Given the description of an element on the screen output the (x, y) to click on. 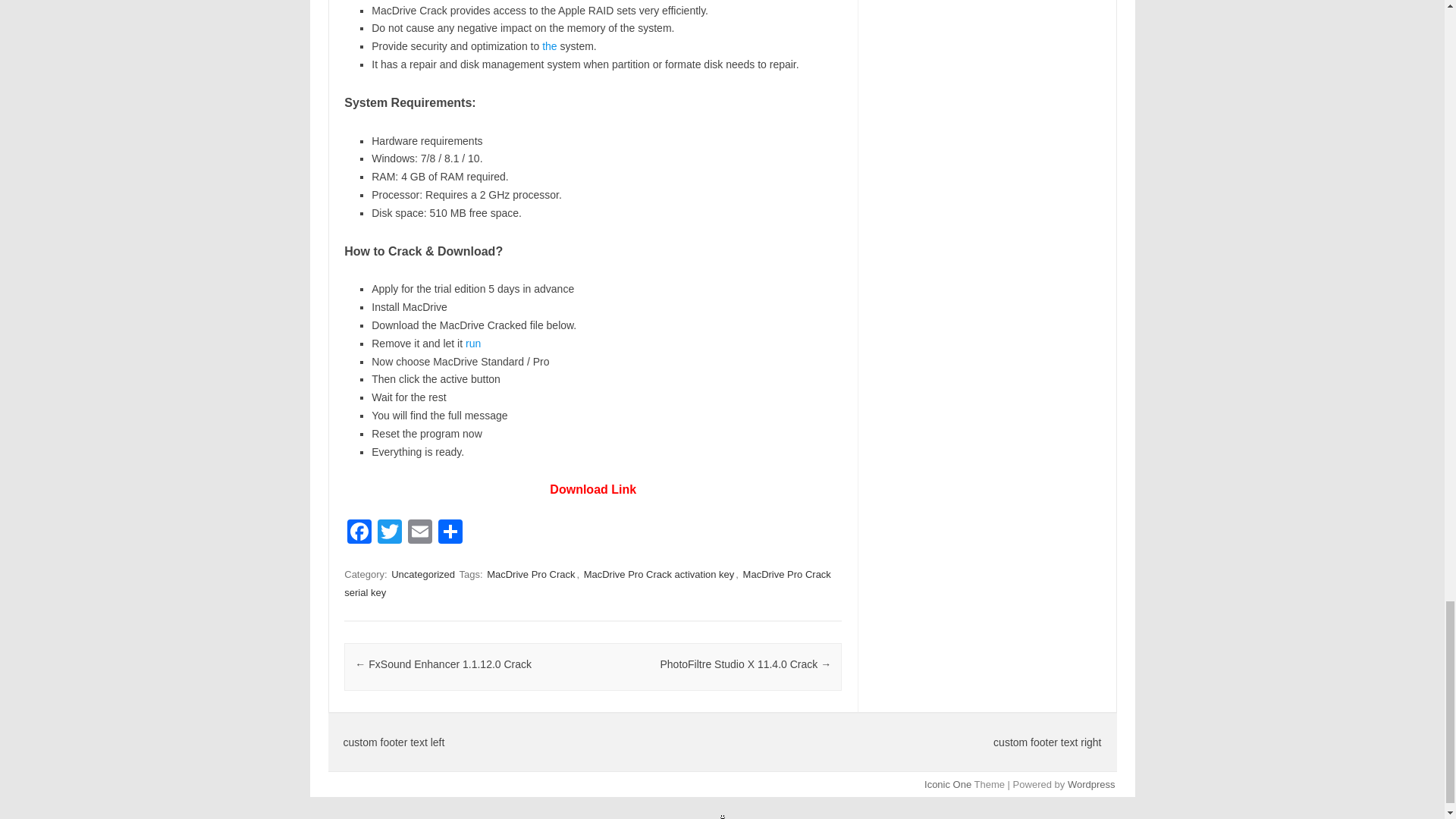
Uncategorized (423, 574)
the (548, 46)
Iconic One (947, 784)
run (472, 343)
MacDrive Pro Crack activation key (659, 574)
Email (419, 533)
Twitter (389, 533)
Wordpress (1091, 784)
MacDrive Pro Crack (530, 574)
Twitter (389, 533)
Facebook (358, 533)
Facebook (358, 533)
MacDrive Pro Crack serial key (587, 583)
Email (419, 533)
Download Link (593, 489)
